Given the description of an element on the screen output the (x, y) to click on. 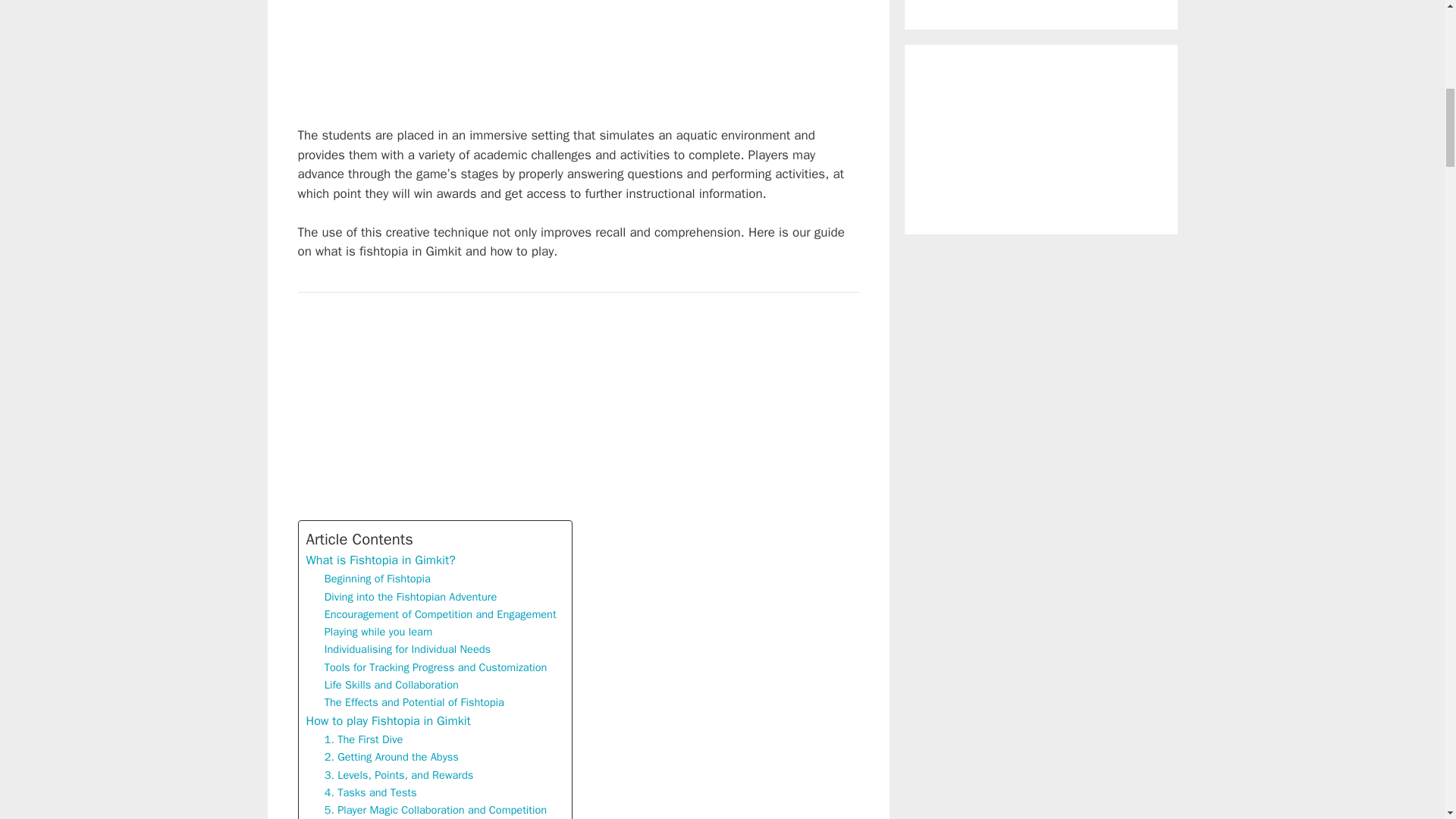
Encouragement of Competition and Engagement (440, 614)
The Effects and Potential of Fishtopia (413, 702)
5. Player Magic Collaboration and Competition (435, 810)
Tools for Tracking Progress and Customization (435, 667)
1. The First Dive (363, 739)
Diving into the Fishtopian Adventure (410, 597)
Beginning of Fishtopia (377, 579)
4. Tasks and Tests (370, 792)
Playing while you learn (378, 631)
Individualising for Individual Needs (407, 649)
Life Skills and Collaboration (391, 684)
Tools for Tracking Progress and Customization (435, 667)
What is Fishtopia in Gimkit? (380, 560)
How to play Fishtopia in Gimkit (387, 721)
The Effects and Potential of Fishtopia (413, 702)
